Given the description of an element on the screen output the (x, y) to click on. 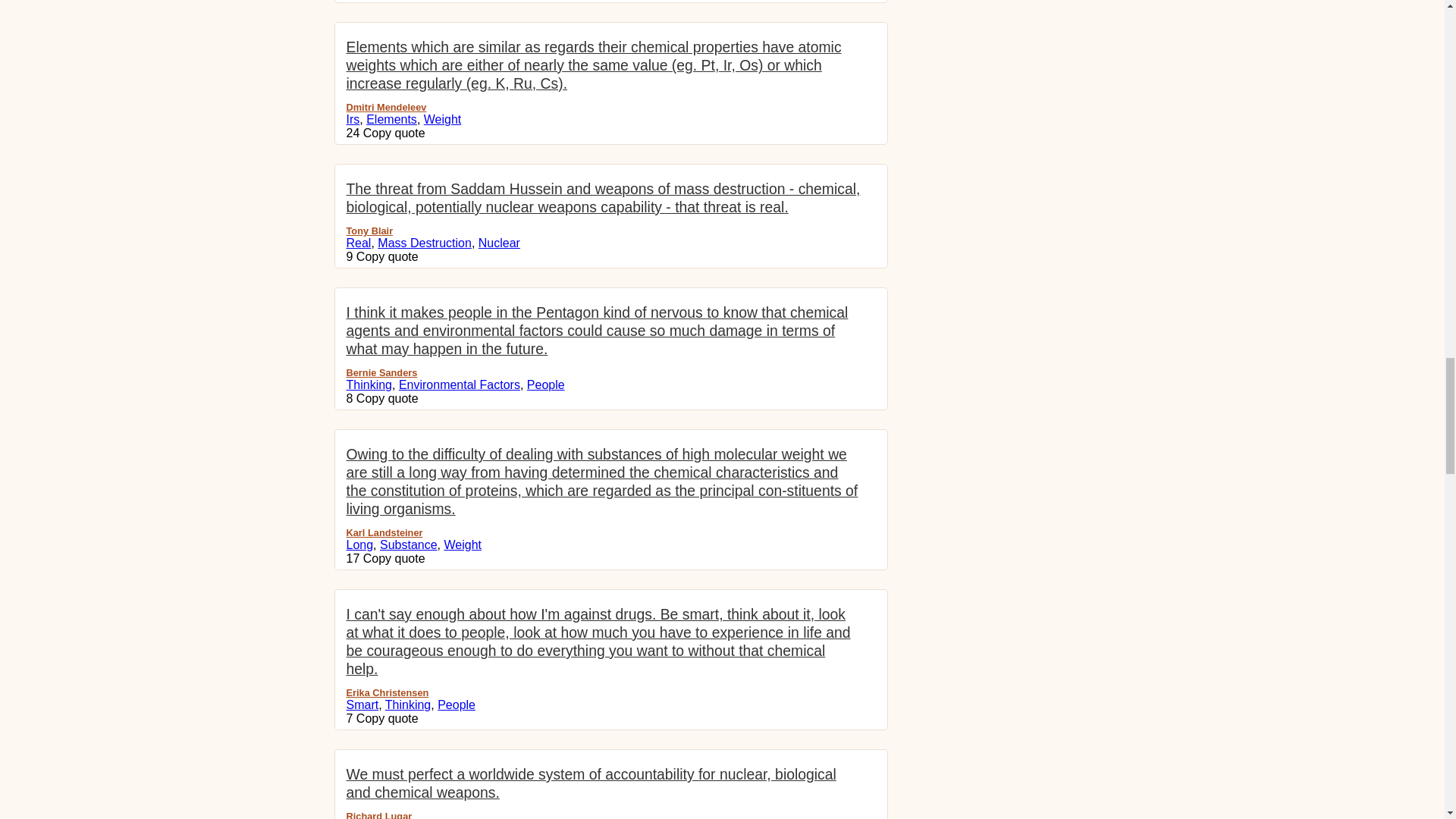
Quote is copied (393, 132)
Quote is copied (393, 558)
Quote is copied (387, 398)
Quote is copied (387, 256)
